Given the description of an element on the screen output the (x, y) to click on. 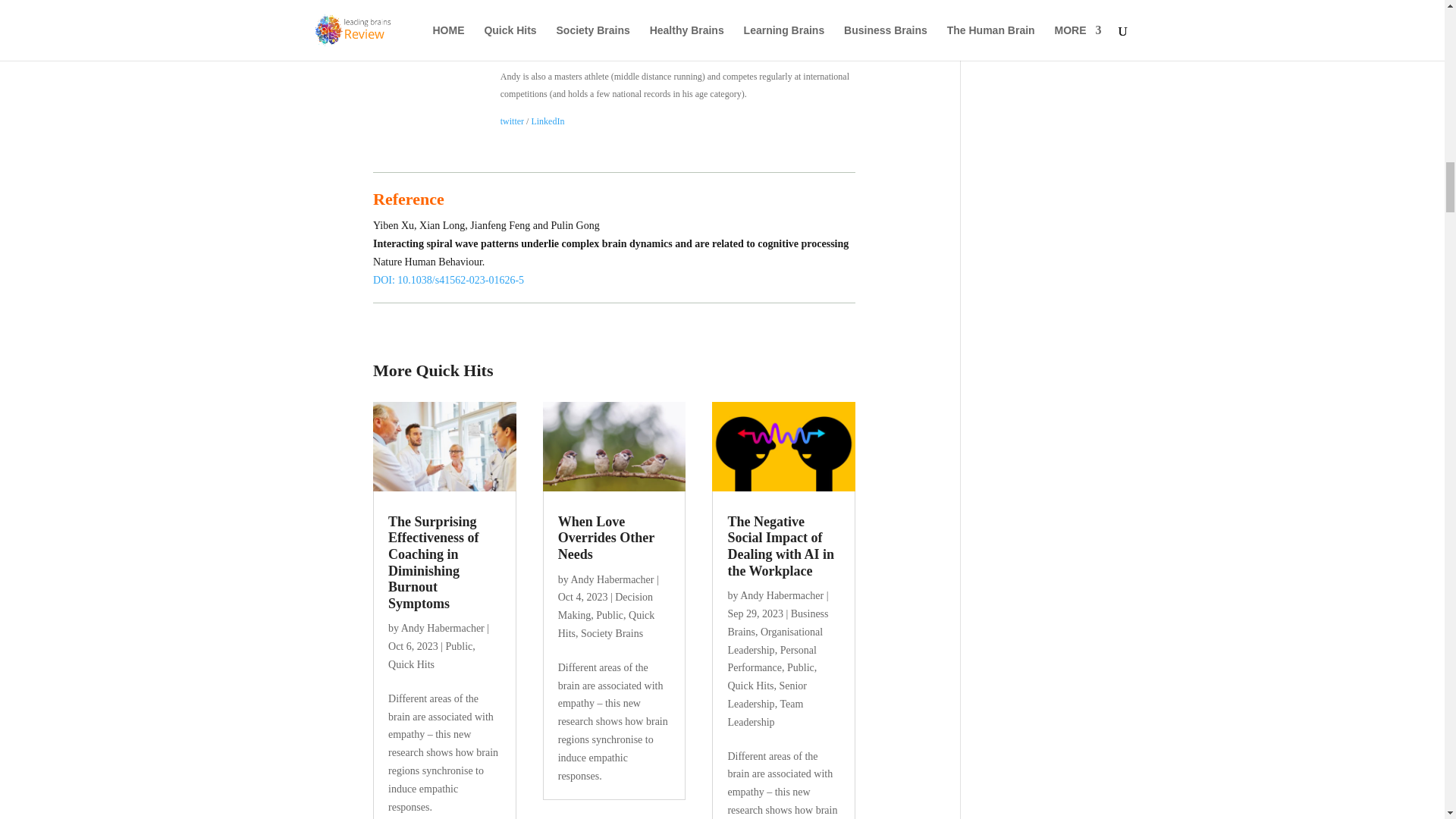
Posts by Andy Habermacher (611, 579)
LinkedIn (547, 121)
twitter (512, 121)
AndyWall2-circle (423, 29)
Posts by Andy Habermacher (442, 627)
Posts by Andy Habermacher (781, 595)
